Given the description of an element on the screen output the (x, y) to click on. 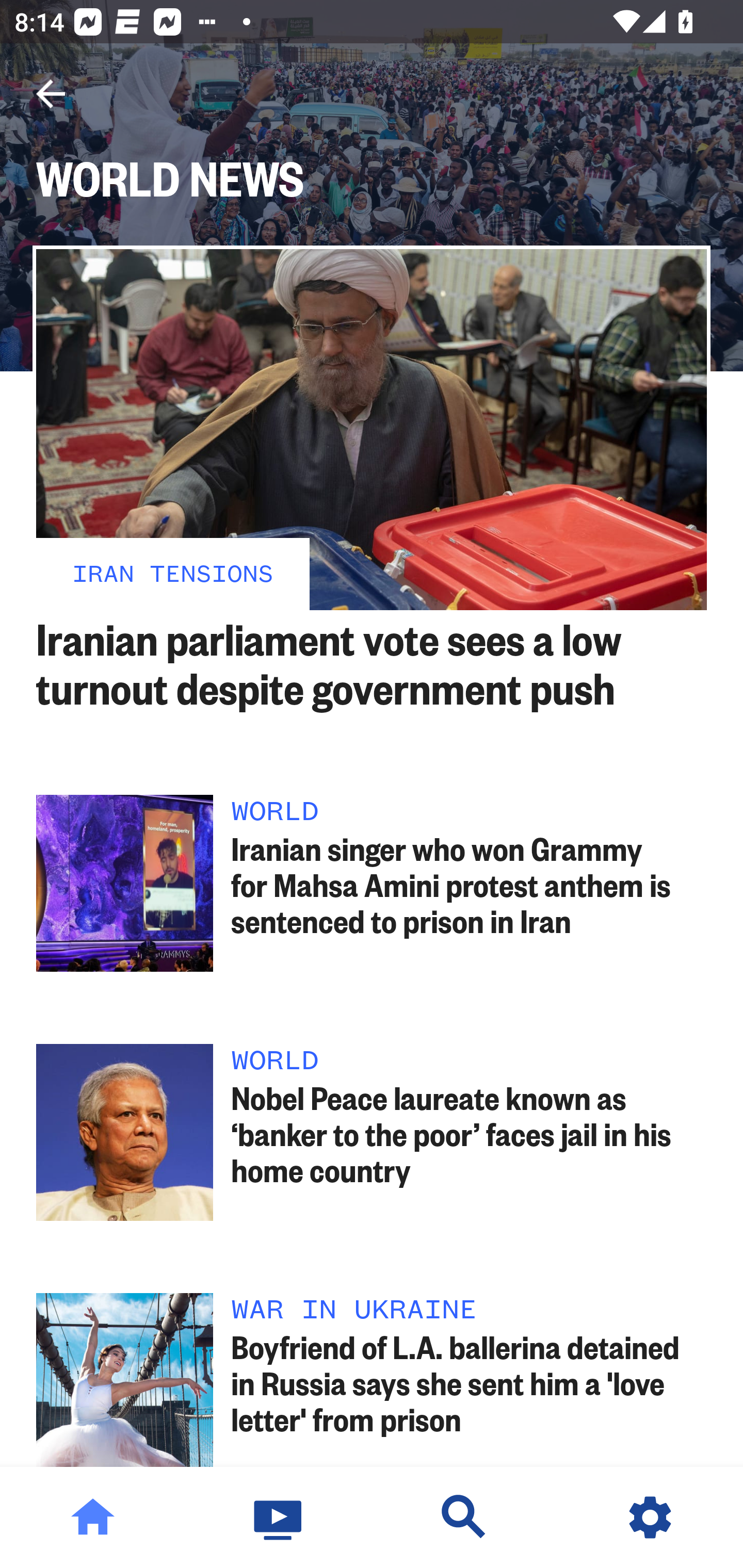
Navigate up (50, 93)
Watch (278, 1517)
Discover (464, 1517)
Settings (650, 1517)
